Given the description of an element on the screen output the (x, y) to click on. 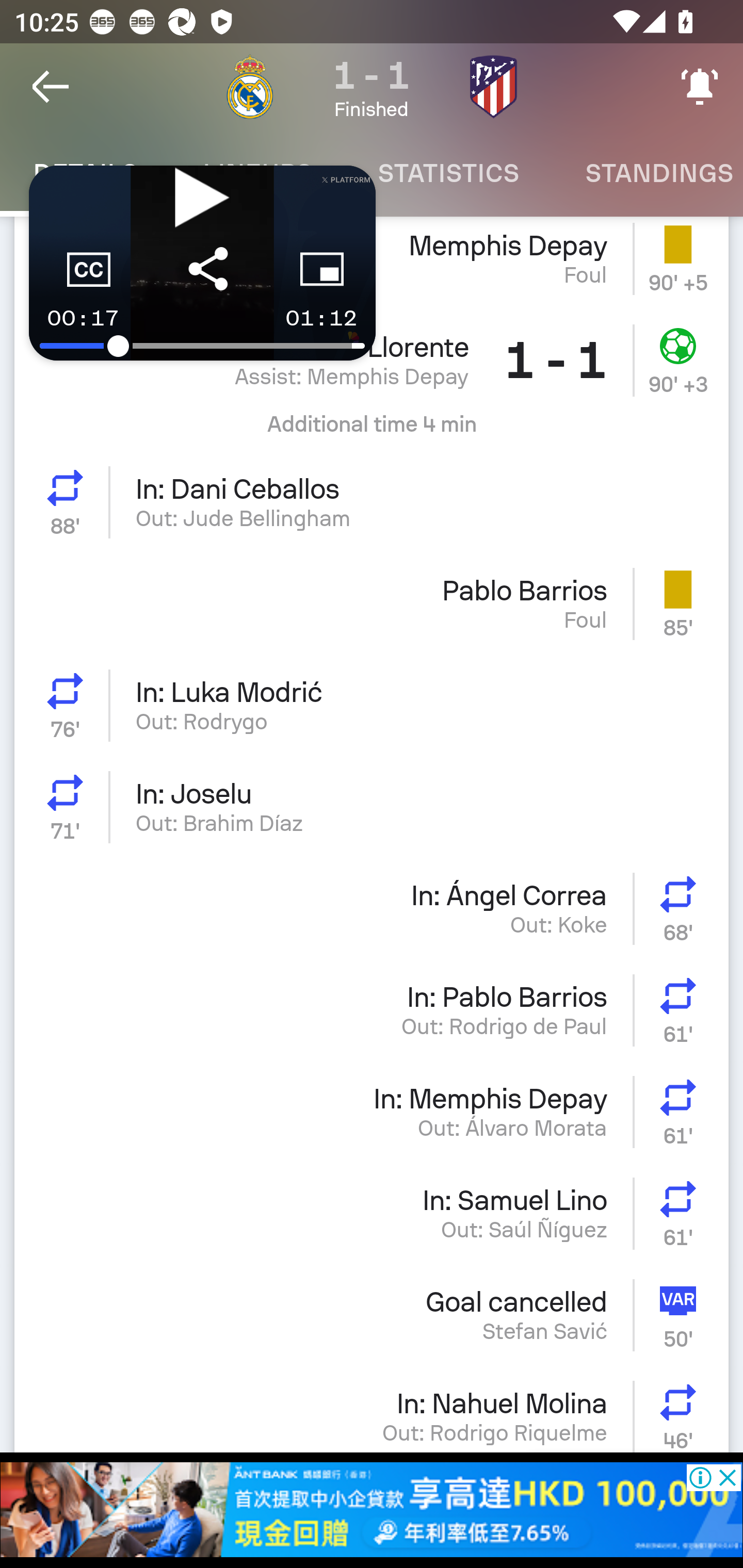
Navigate up (50, 86)
Statistics STATISTICS (448, 173)
Standings STANDINGS (647, 173)
Additional time 4 min (371, 430)
Pablo Barrios Foul Yellow card 85' (371, 603)
Substitution In: Luka Modrić 76' Out: Rodrygo (371, 704)
Substitution In: Joselu 71' Out: Brahim Díaz (371, 806)
In: Ángel Correa Out: Koke Substitution 68' (371, 908)
In: Samuel Lino Out: Saúl Ñíguez Substitution 61' (371, 1212)
Goal cancelled Stefan Savić VAR VAR 50' (371, 1314)
VAR (681, 1314)
